Given the description of an element on the screen output the (x, y) to click on. 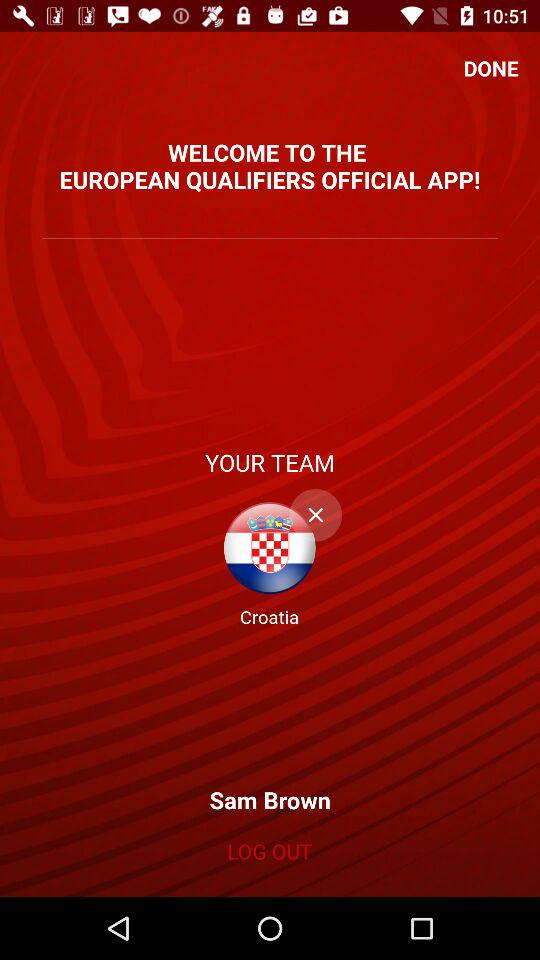
click item above welcome to the (491, 68)
